Given the description of an element on the screen output the (x, y) to click on. 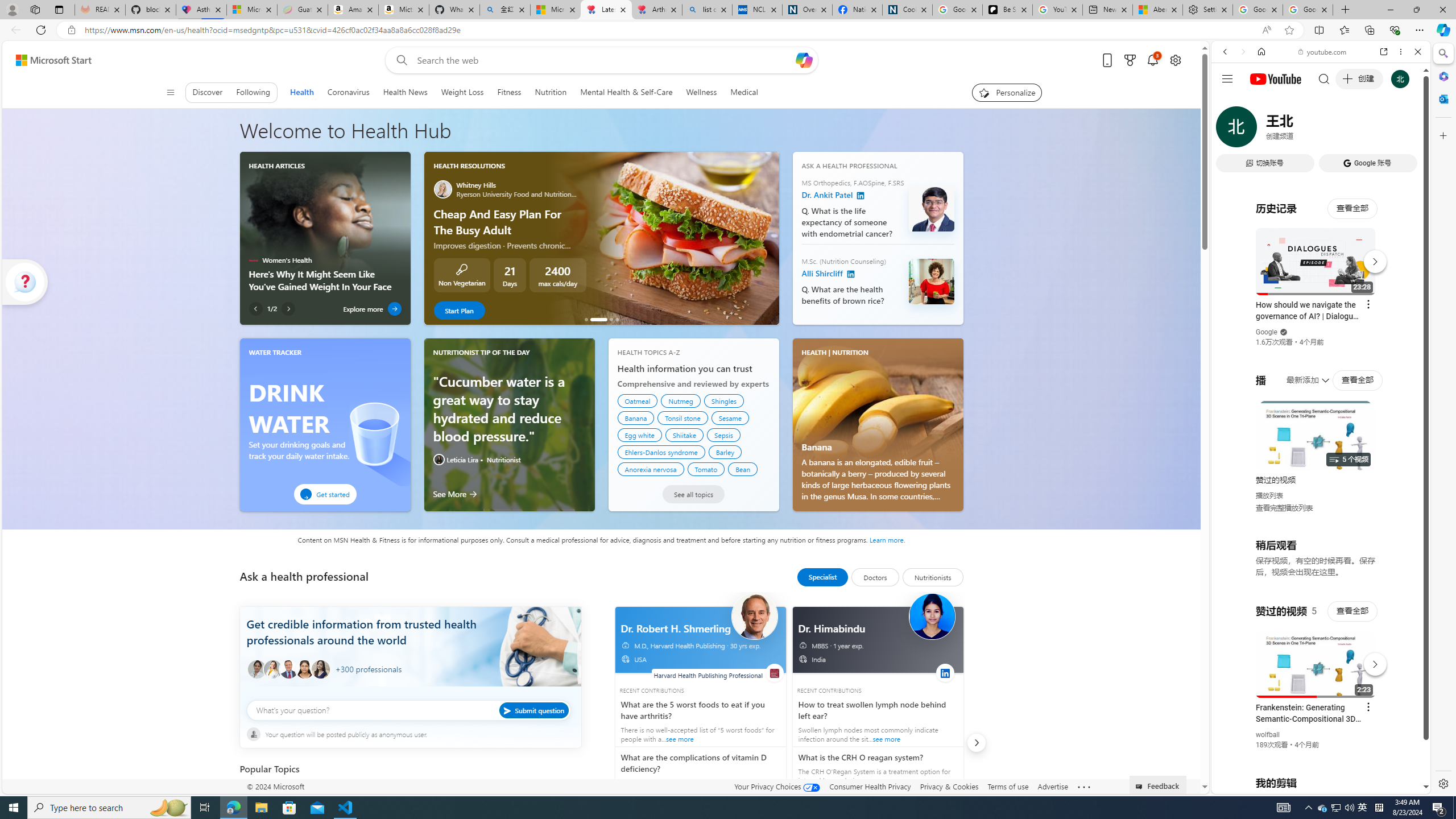
Music (1320, 309)
Vegetarian Low Calorie Meal Plan (610, 319)
Terms of use (1008, 786)
SEARCH TOOLS (1350, 130)
Health professional icon (256, 669)
Open link in new tab (1383, 51)
Fitness (509, 92)
Be Smart | creating Science videos | Patreon (1006, 9)
Cheap And Easy Plan For The Busy Adult (598, 319)
Nutrition (550, 92)
Wellness (700, 92)
